Given the description of an element on the screen output the (x, y) to click on. 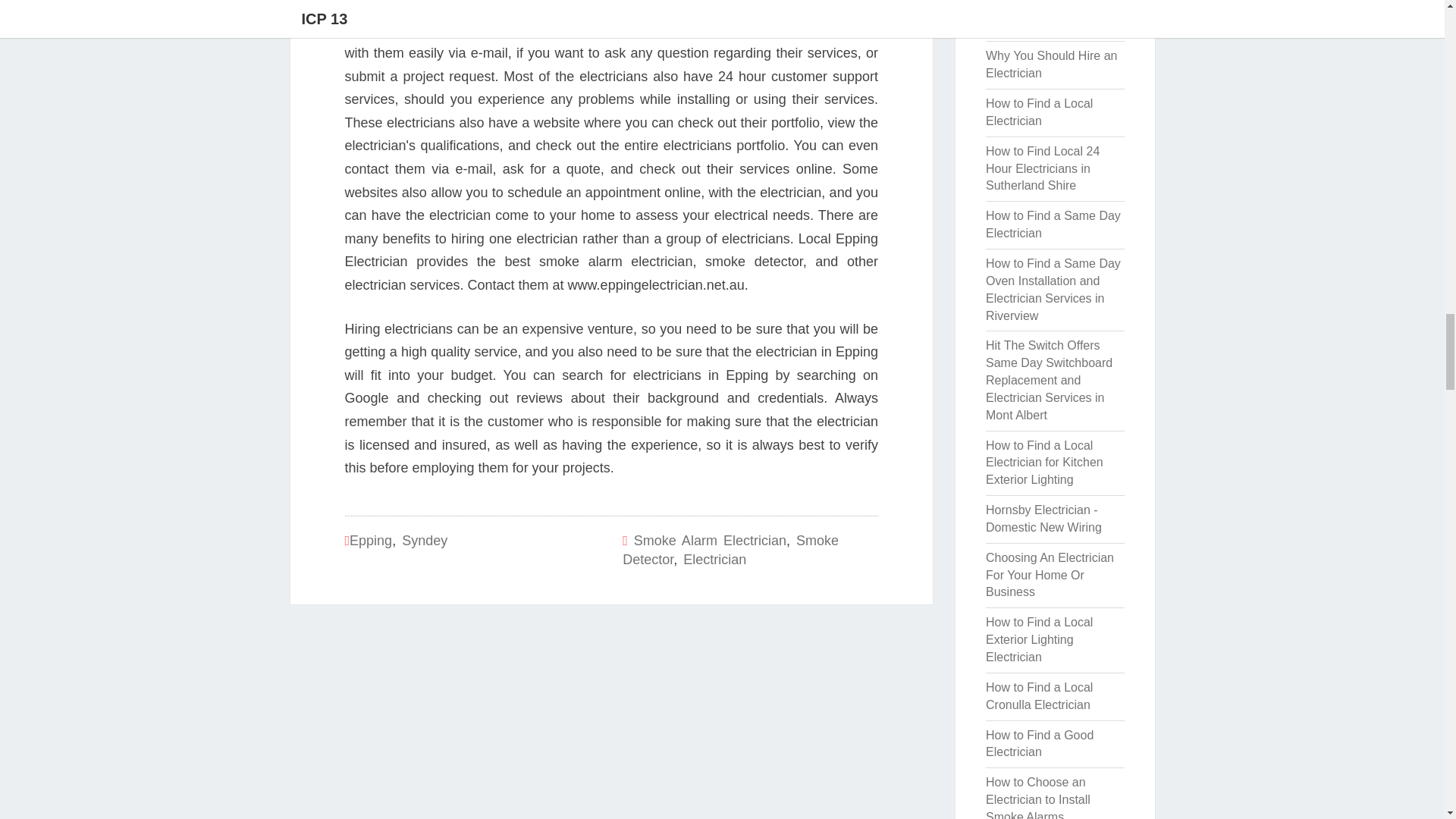
Epping (370, 540)
Smoke Alarm Electrician (709, 540)
Electrician (713, 559)
Smoke Detector (730, 550)
Syndey (423, 540)
